Given the description of an element on the screen output the (x, y) to click on. 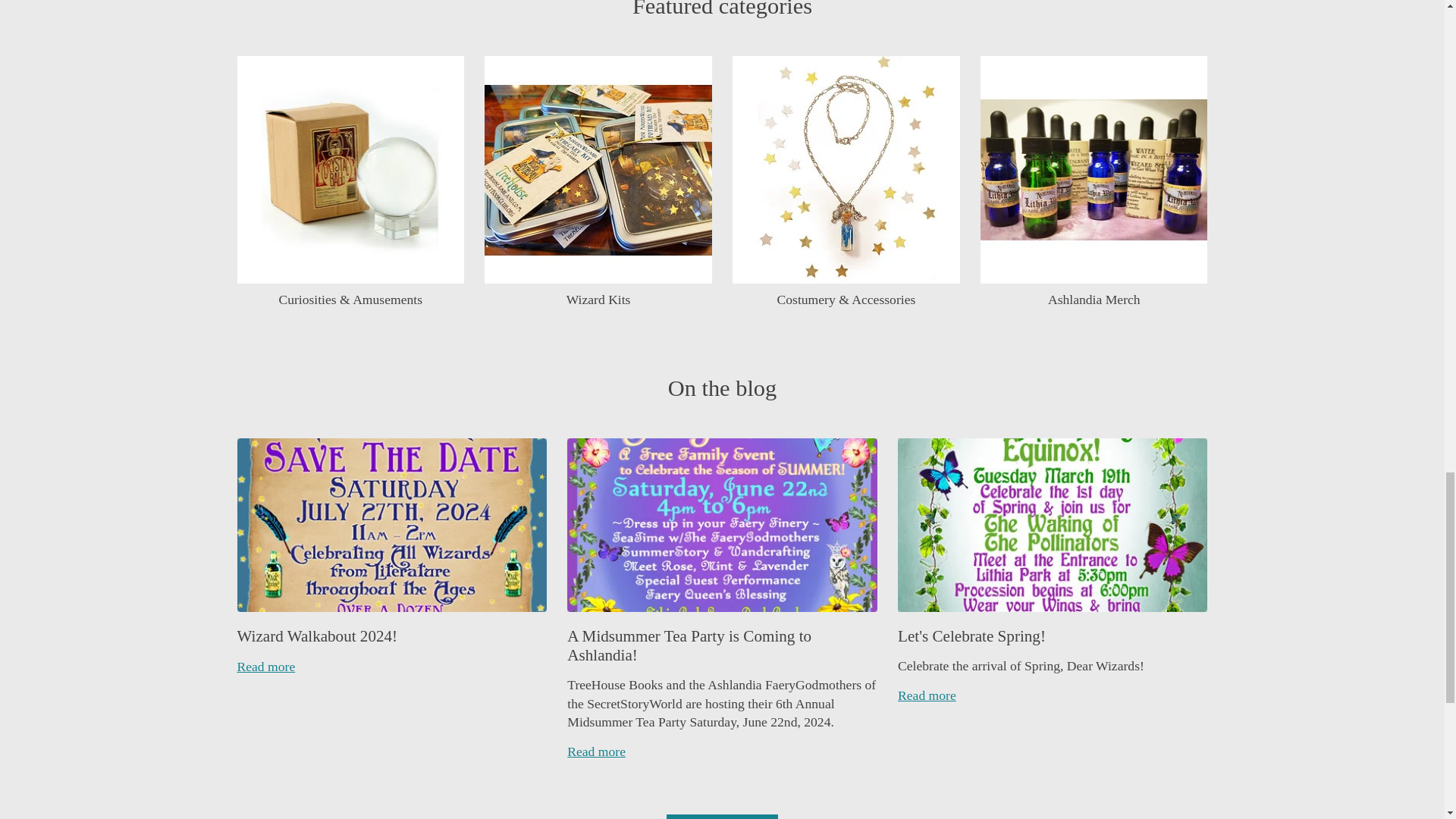
Wizard Kits (597, 169)
Ashlandia Merch (1093, 169)
